Given the description of an element on the screen output the (x, y) to click on. 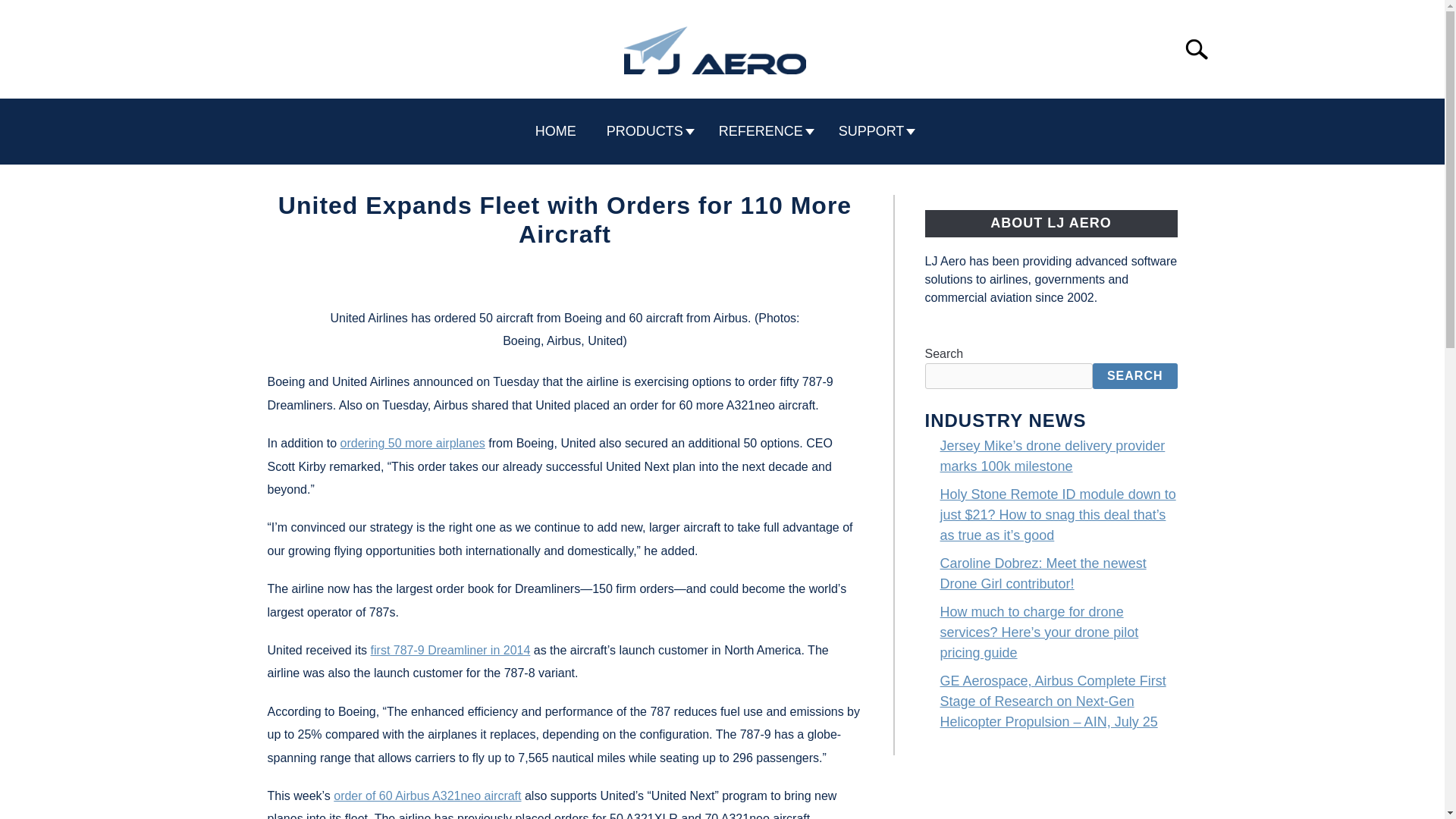
Search (1203, 49)
first 787-9 Dreamliner in 2014 (451, 649)
Caroline Dobrez: Meet the newest Drone Girl contributor! (1043, 573)
HOME (555, 131)
PRODUCTS (647, 131)
order of 60 Airbus A321neo aircraft (427, 795)
ordering 50 more airplanes (412, 442)
REFERENCE (763, 131)
SEARCH (1135, 376)
SUPPORT (874, 131)
